Given the description of an element on the screen output the (x, y) to click on. 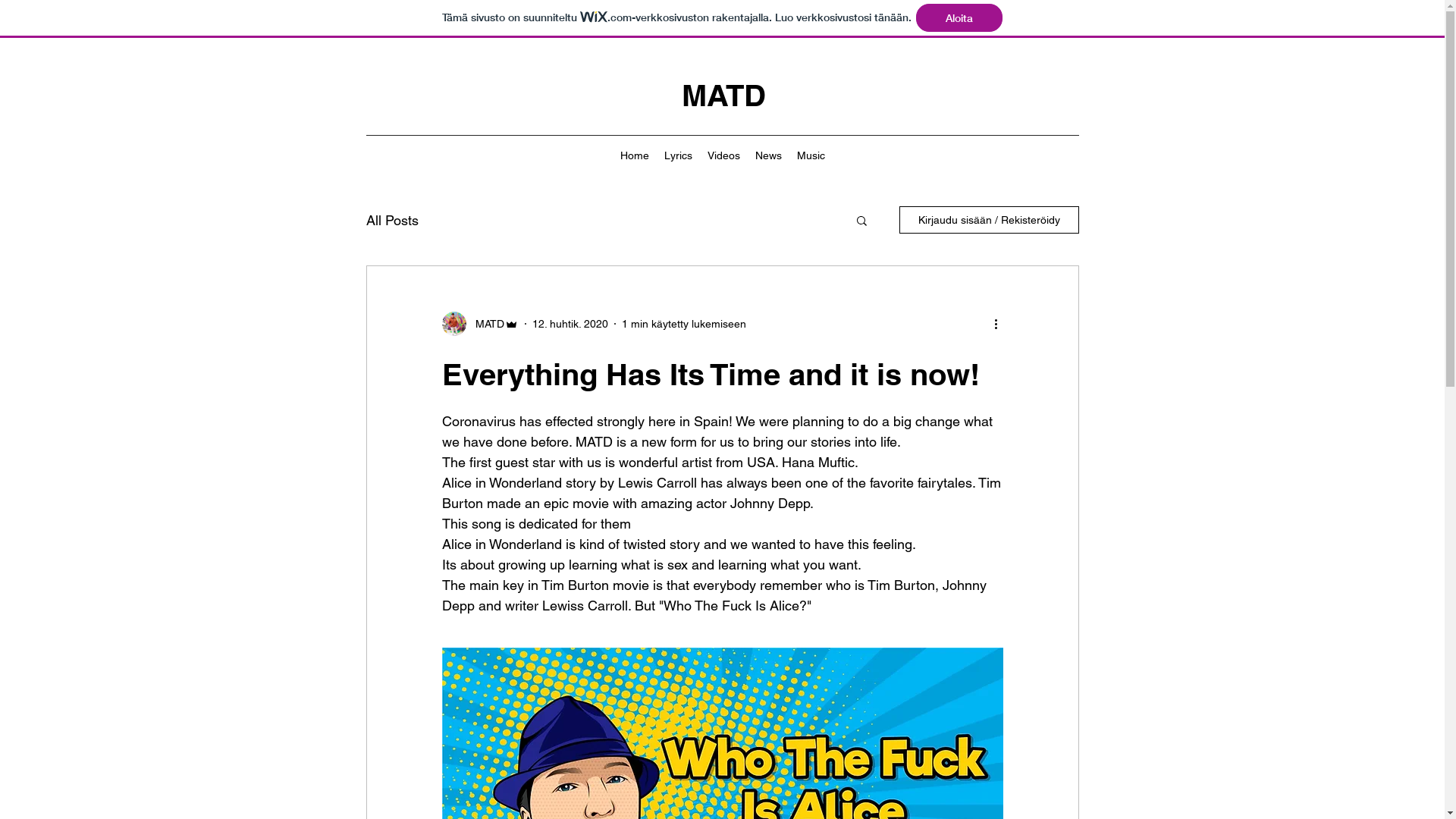
Lyrics Element type: text (677, 155)
Home Element type: text (634, 155)
Videos Element type: text (722, 155)
MATD Element type: text (722, 94)
News Element type: text (768, 155)
Music Element type: text (809, 155)
All Posts Element type: text (391, 220)
